Given the description of an element on the screen output the (x, y) to click on. 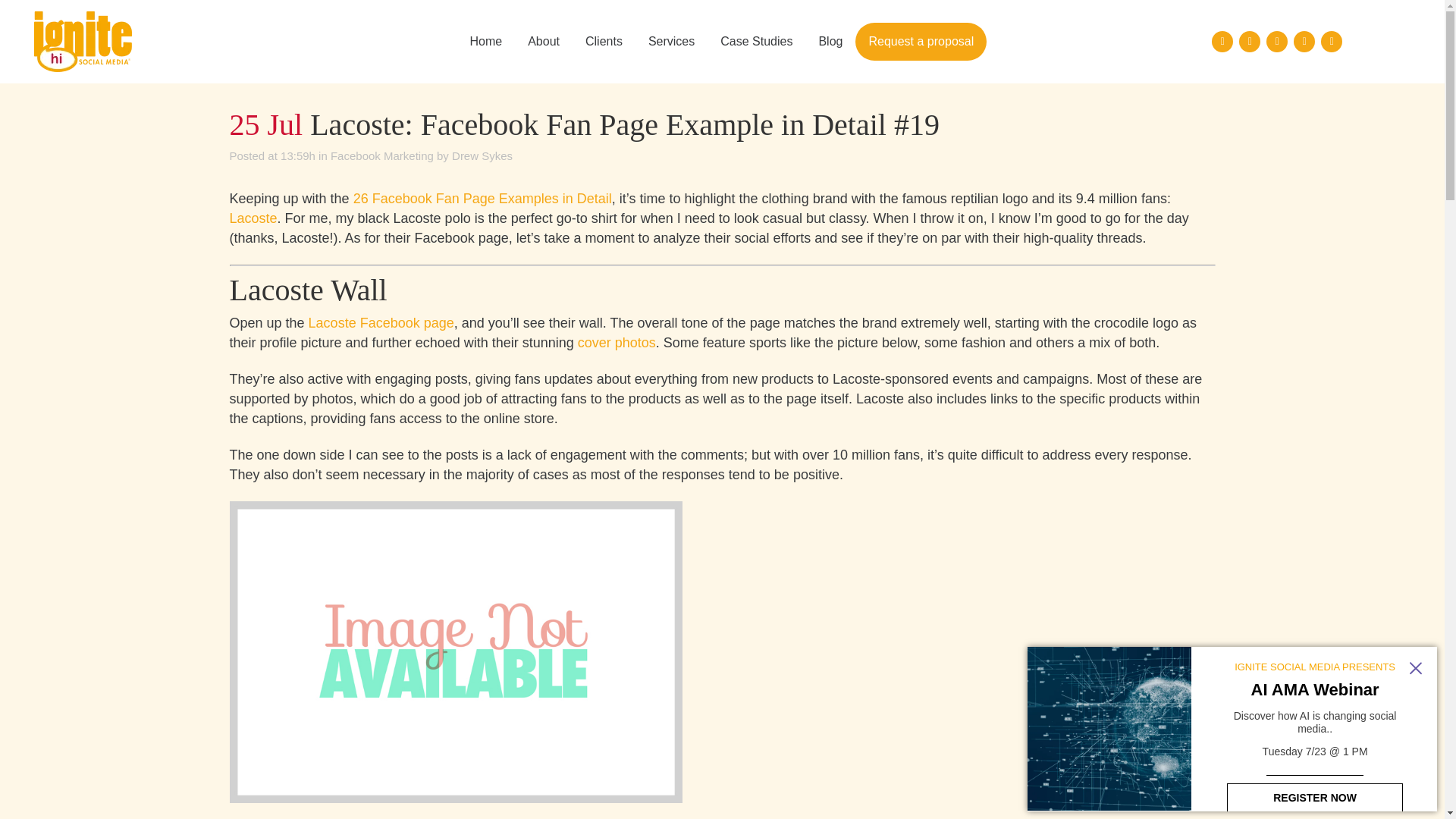
Drew Sykes (481, 155)
Lacoste (252, 218)
Lacoste Facebook page (381, 322)
cover photos (617, 342)
26 Facebook Fan Page Examples in Detail (482, 198)
Facebook Marketing (381, 155)
Popup CTA (1232, 729)
Request a proposal (921, 41)
Case Studies (756, 41)
